Given the description of an element on the screen output the (x, y) to click on. 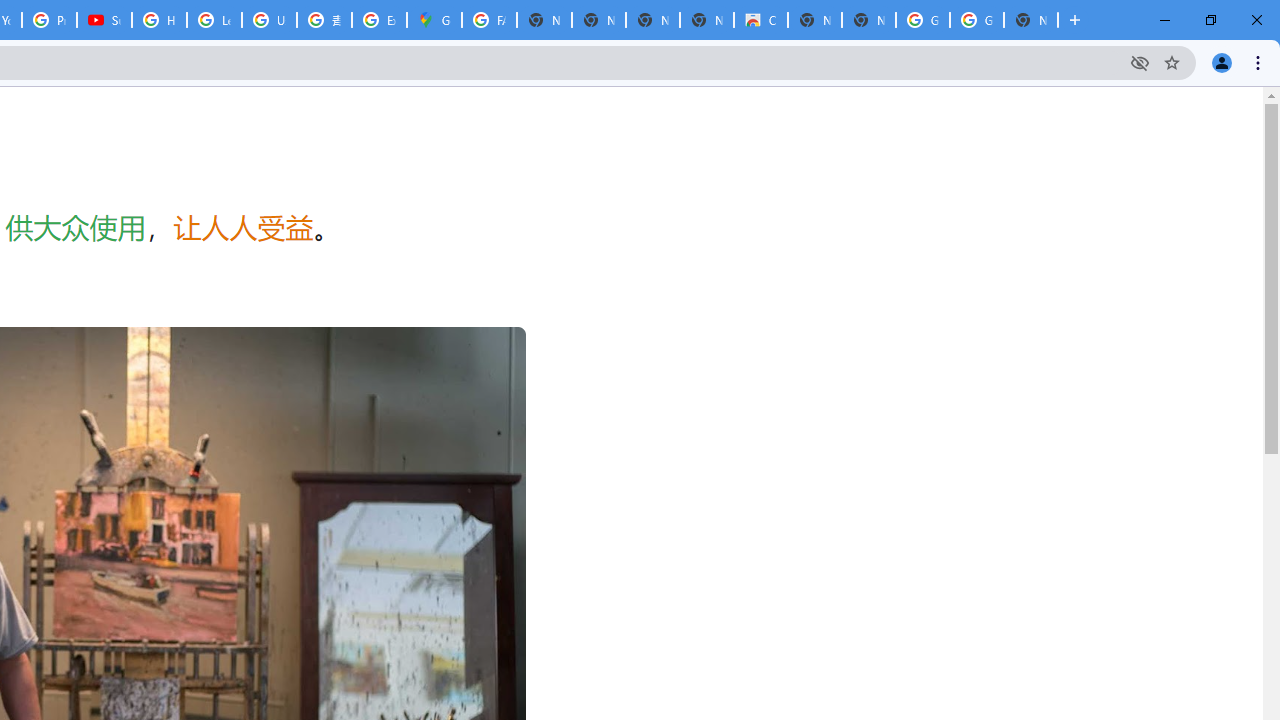
Google Maps (434, 20)
Chrome Web Store (760, 20)
Subscriptions - YouTube (103, 20)
Google Images (976, 20)
New Tab (1030, 20)
How Chrome protects your passwords - Google Chrome Help (158, 20)
